Given the description of an element on the screen output the (x, y) to click on. 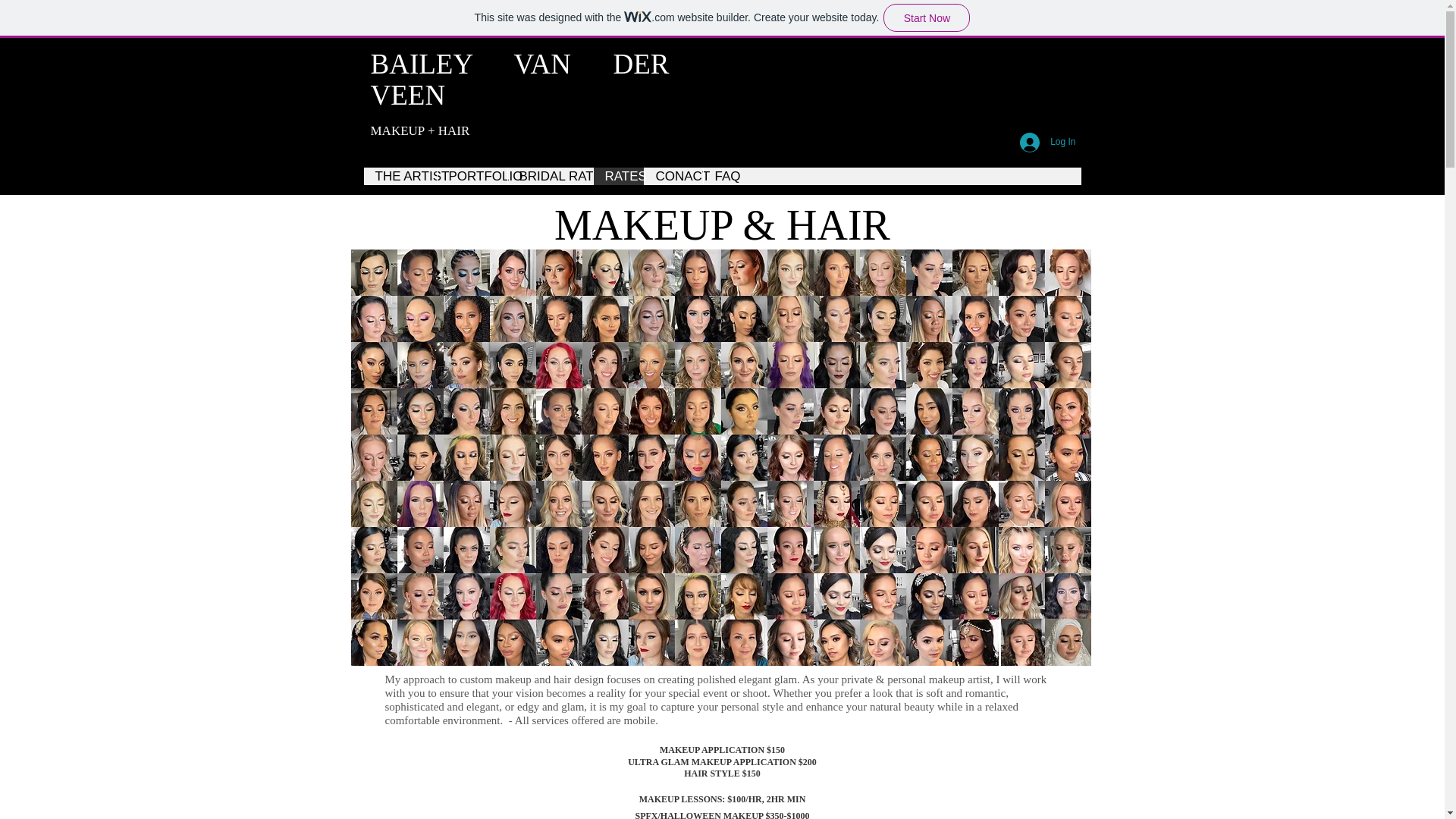
RATES (617, 176)
PORTFOLIO (471, 176)
Log In (1047, 142)
CONACT (672, 176)
FAQ (721, 176)
THE ARTIST (400, 176)
BRIDAL RATES (549, 176)
BAILEY VAN DER VEEN (518, 79)
